Given the description of an element on the screen output the (x, y) to click on. 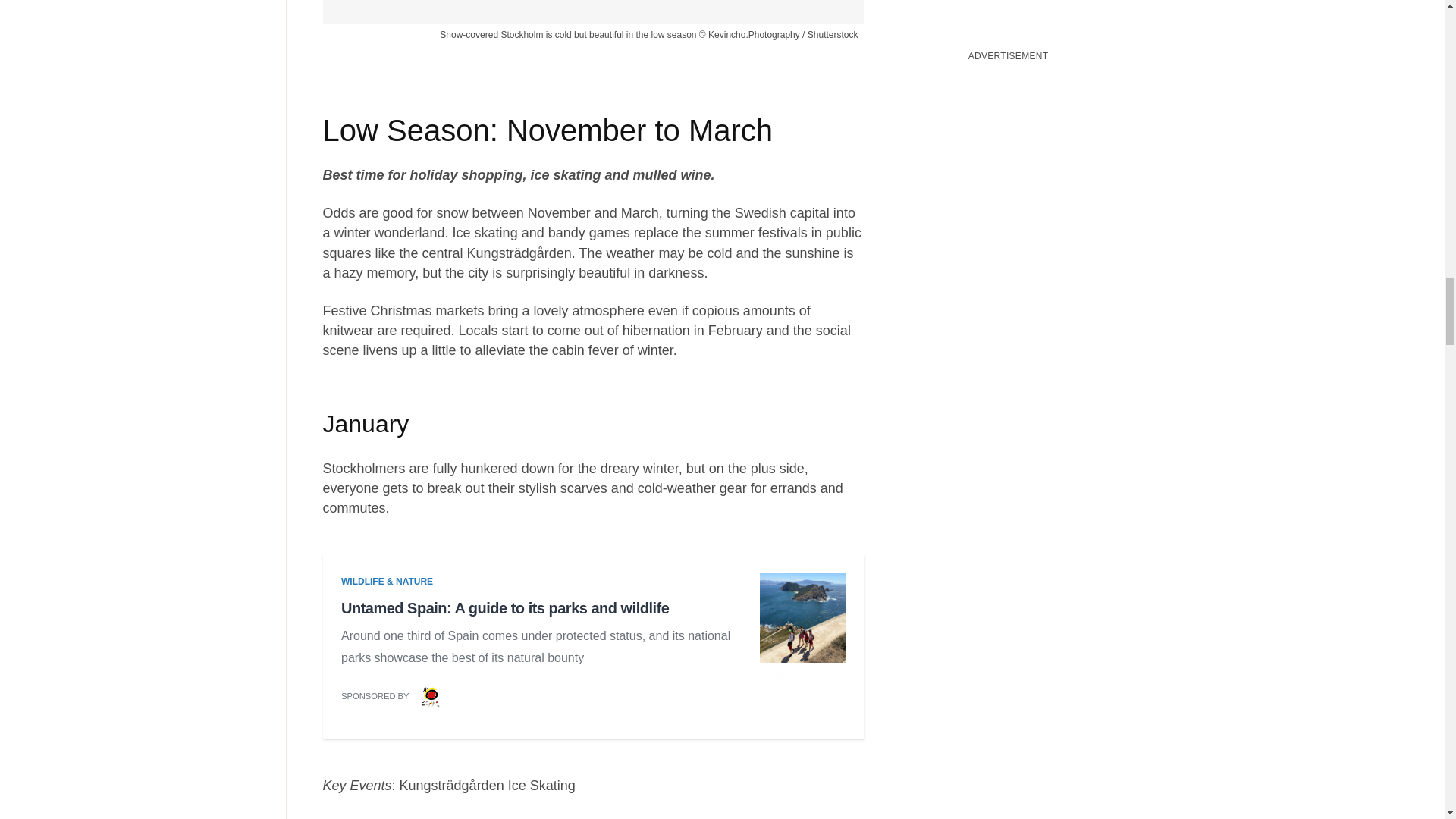
3rd party ad content (592, 651)
